Given the description of an element on the screen output the (x, y) to click on. 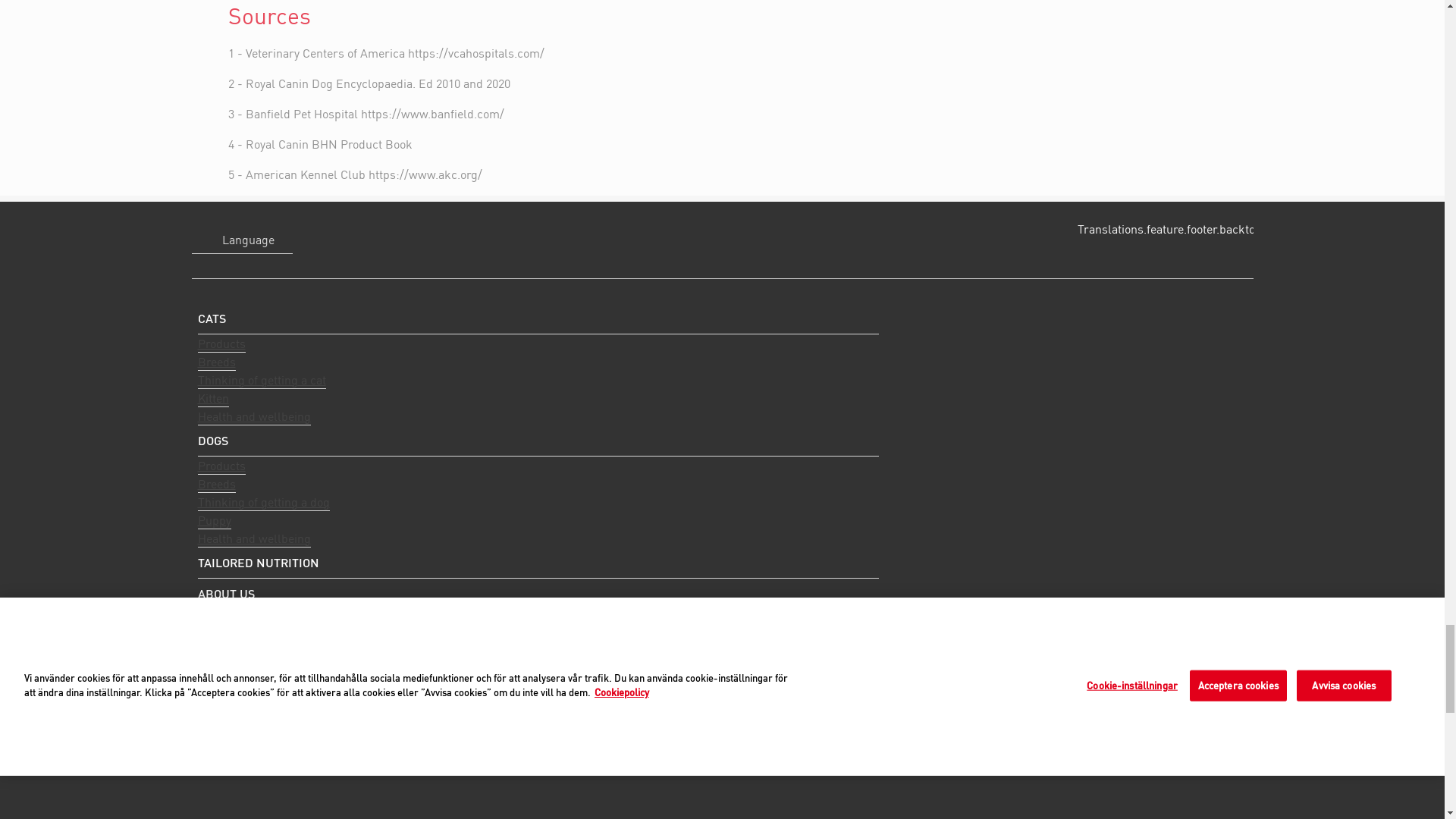
Dogs (536, 440)
Products (220, 343)
Tailored nutrition (536, 562)
News (211, 692)
translations.feature.footer.backtotop (1168, 228)
Thinking of getting a cat (260, 380)
Breeds (215, 361)
Puppy (213, 520)
Language (241, 239)
Breeds (215, 484)
